Given the description of an element on the screen output the (x, y) to click on. 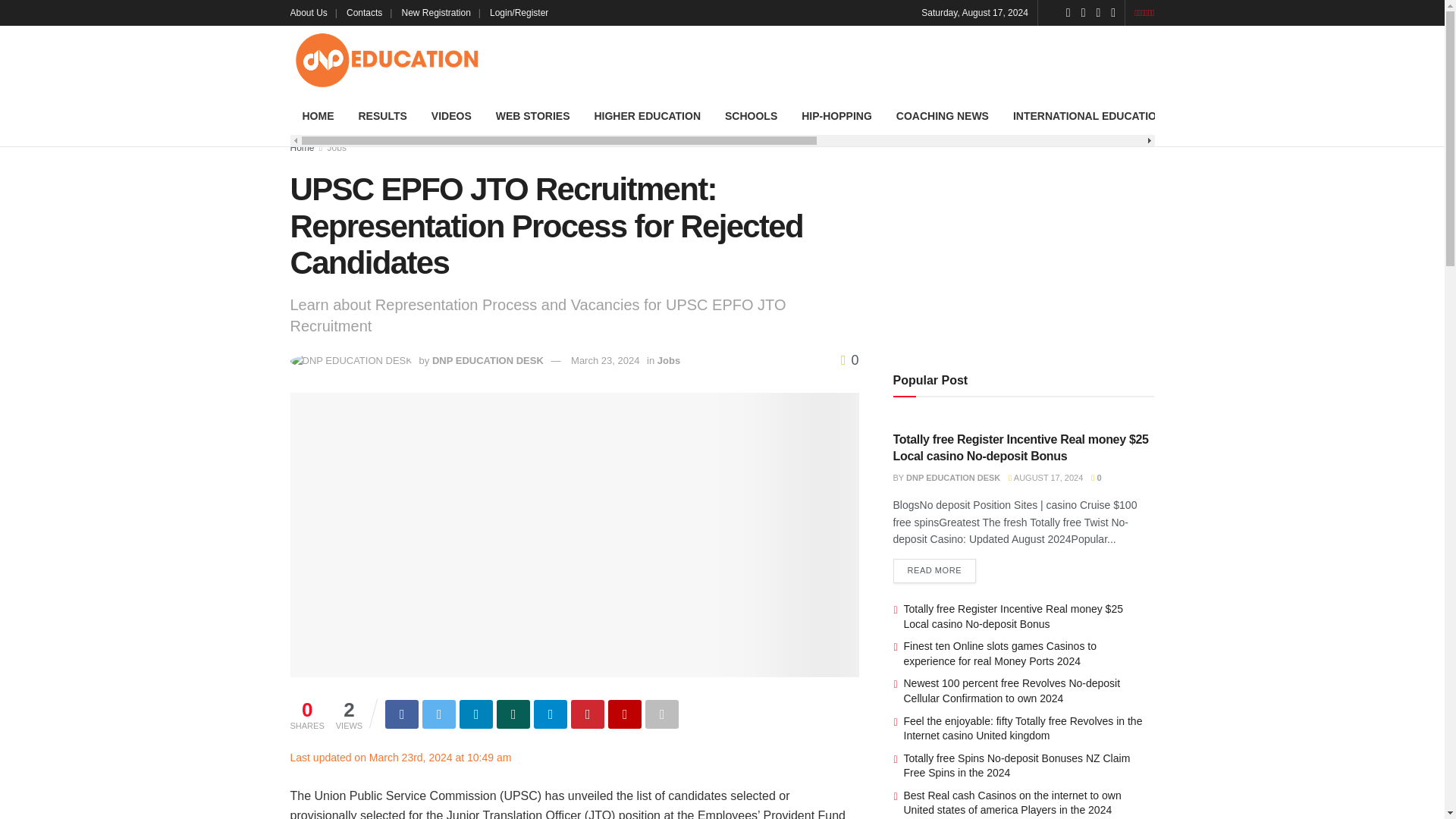
INTERNATIONAL EDUCATION (1088, 116)
COACHING NEWS (942, 116)
WEB STORIES (532, 116)
HIP-HOPPING (836, 116)
New Registration (440, 12)
SCIENCE (1264, 116)
HIGHER EDUCATION (646, 116)
PATENTS (1336, 116)
About Us (312, 12)
HOME (317, 116)
